Given the description of an element on the screen output the (x, y) to click on. 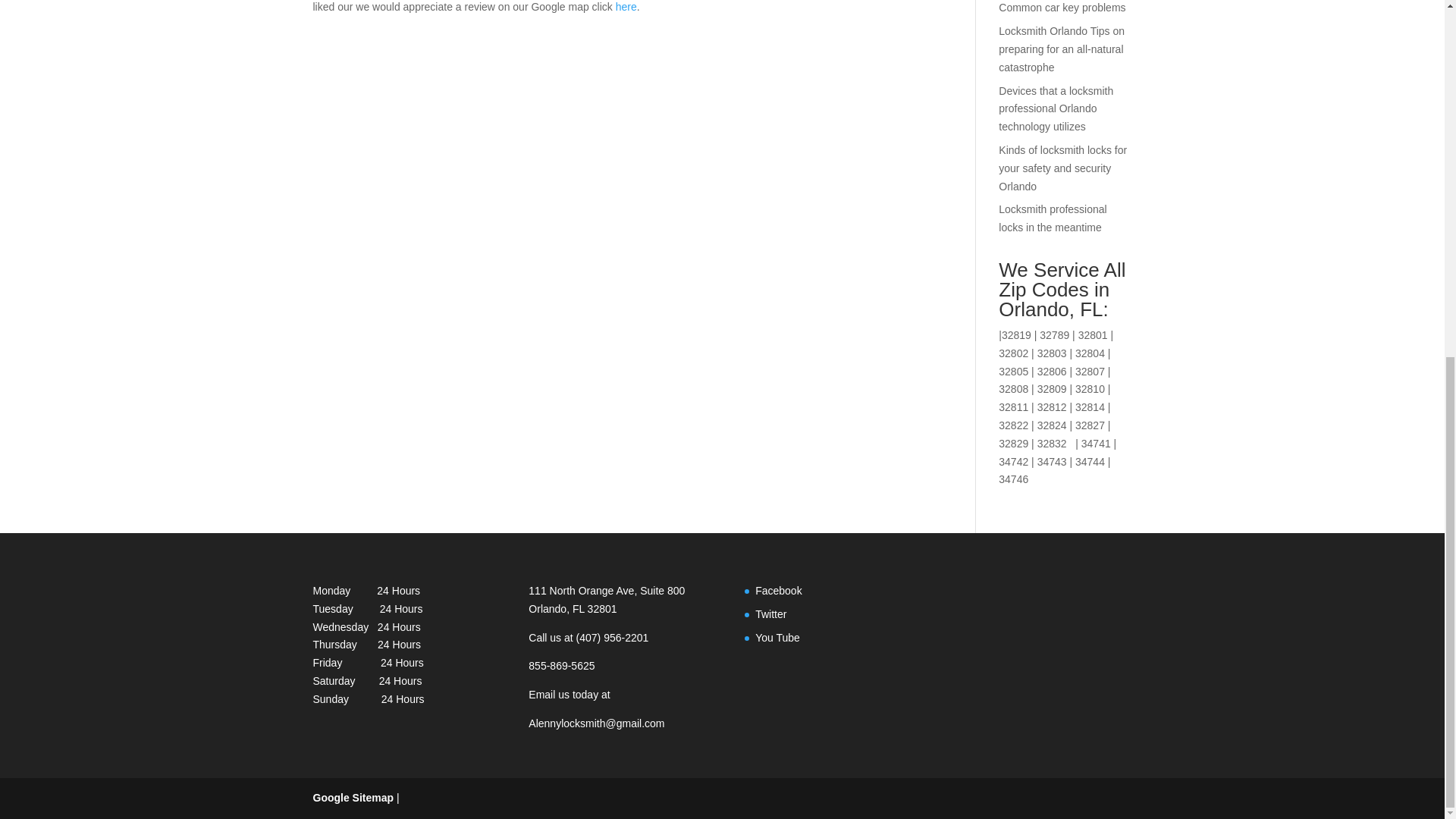
Facebook (778, 590)
Twitter (770, 613)
Common car key problems (1061, 7)
You Tube (777, 637)
Google Sitemap (353, 797)
here (626, 6)
Locksmith professional locks in the meantime (1052, 218)
